Given the description of an element on the screen output the (x, y) to click on. 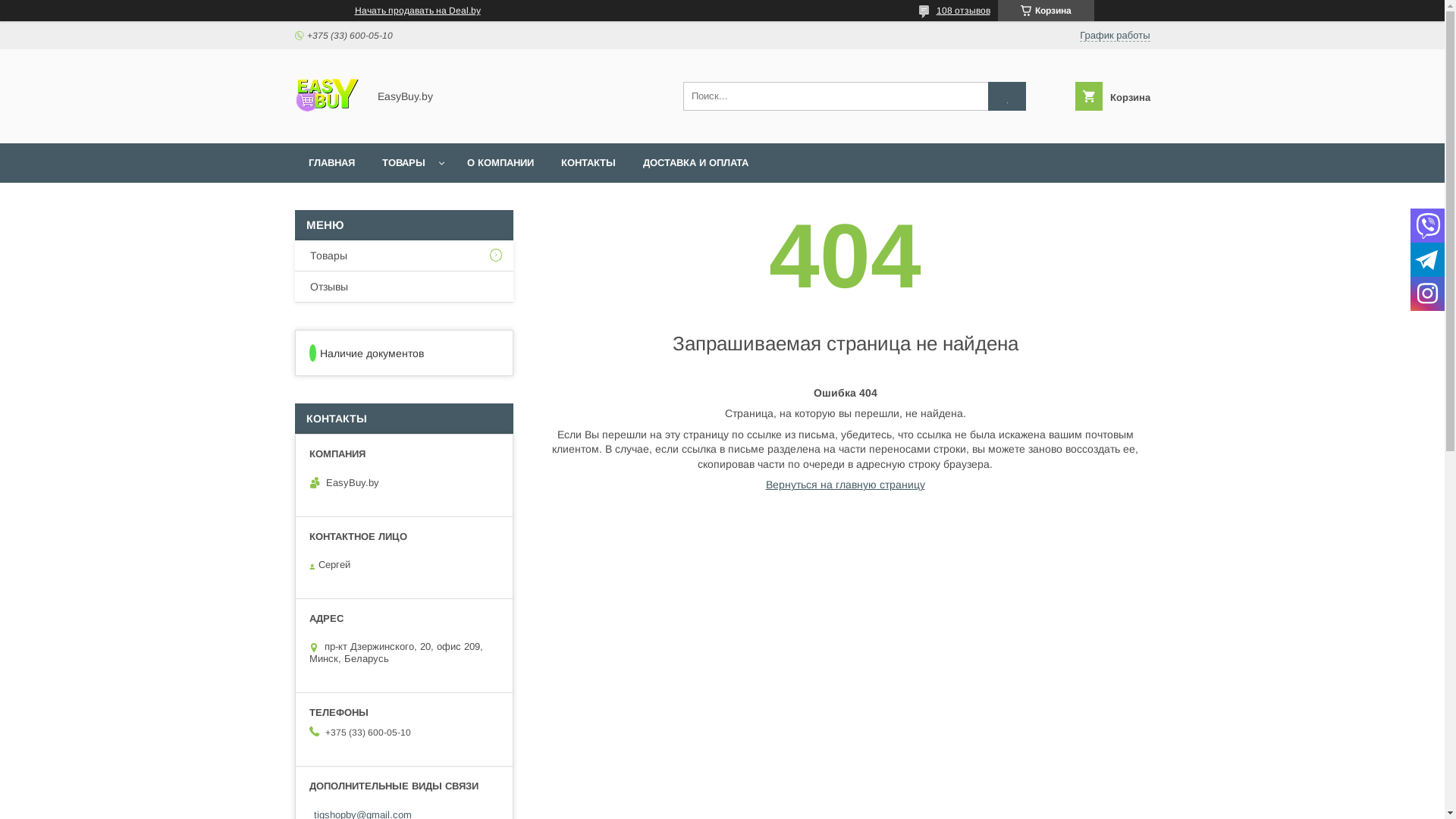
EasyBuy.by Element type: hover (326, 123)
